Given the description of an element on the screen output the (x, y) to click on. 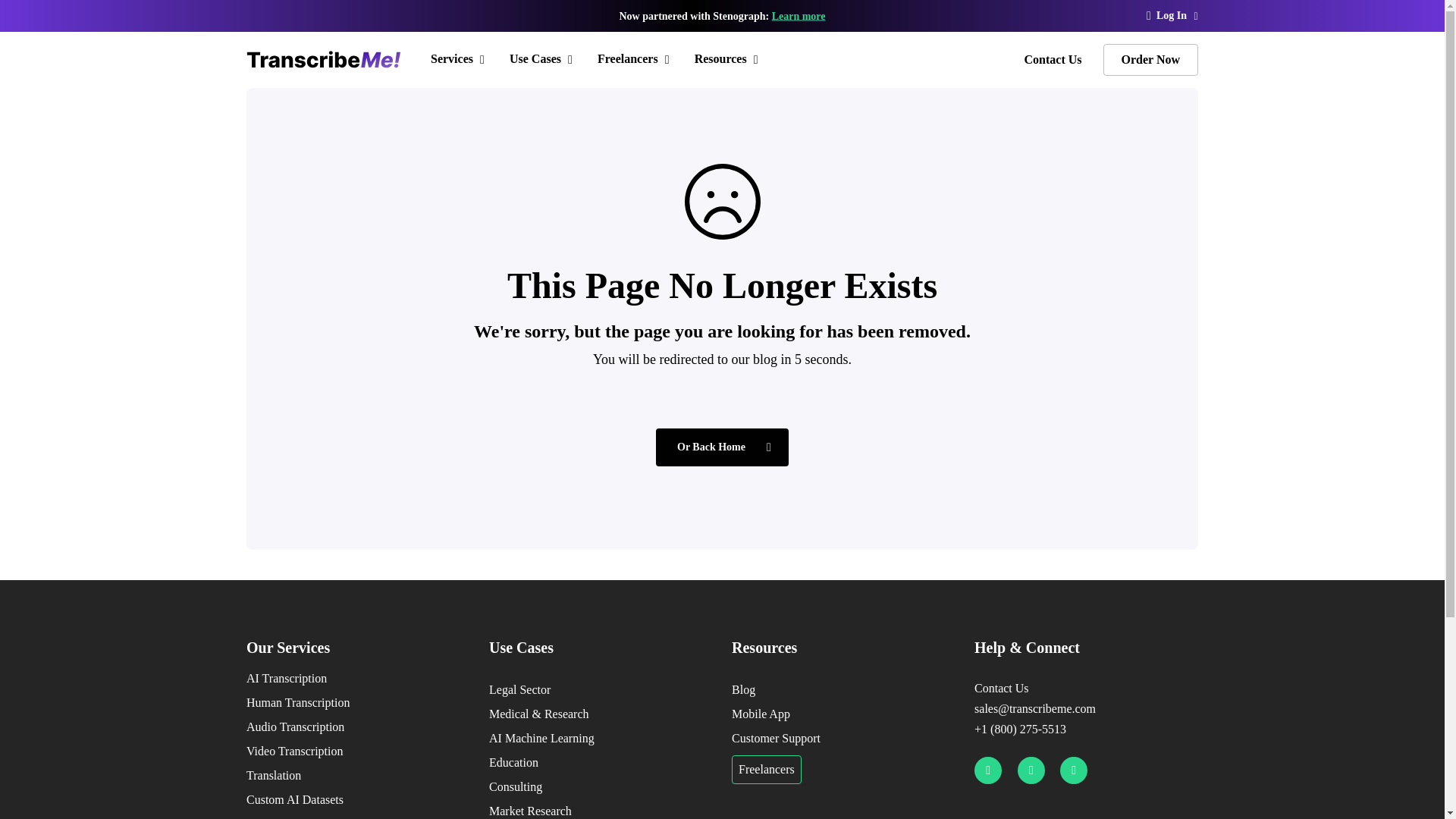
Our Services (358, 647)
Resources (727, 59)
Contact Us (1053, 59)
Or Back Home (722, 447)
Learn more (798, 16)
Services (458, 59)
Use Cases (542, 59)
Order Now (1150, 60)
AI Transcription (358, 678)
Freelancers (634, 59)
